Given the description of an element on the screen output the (x, y) to click on. 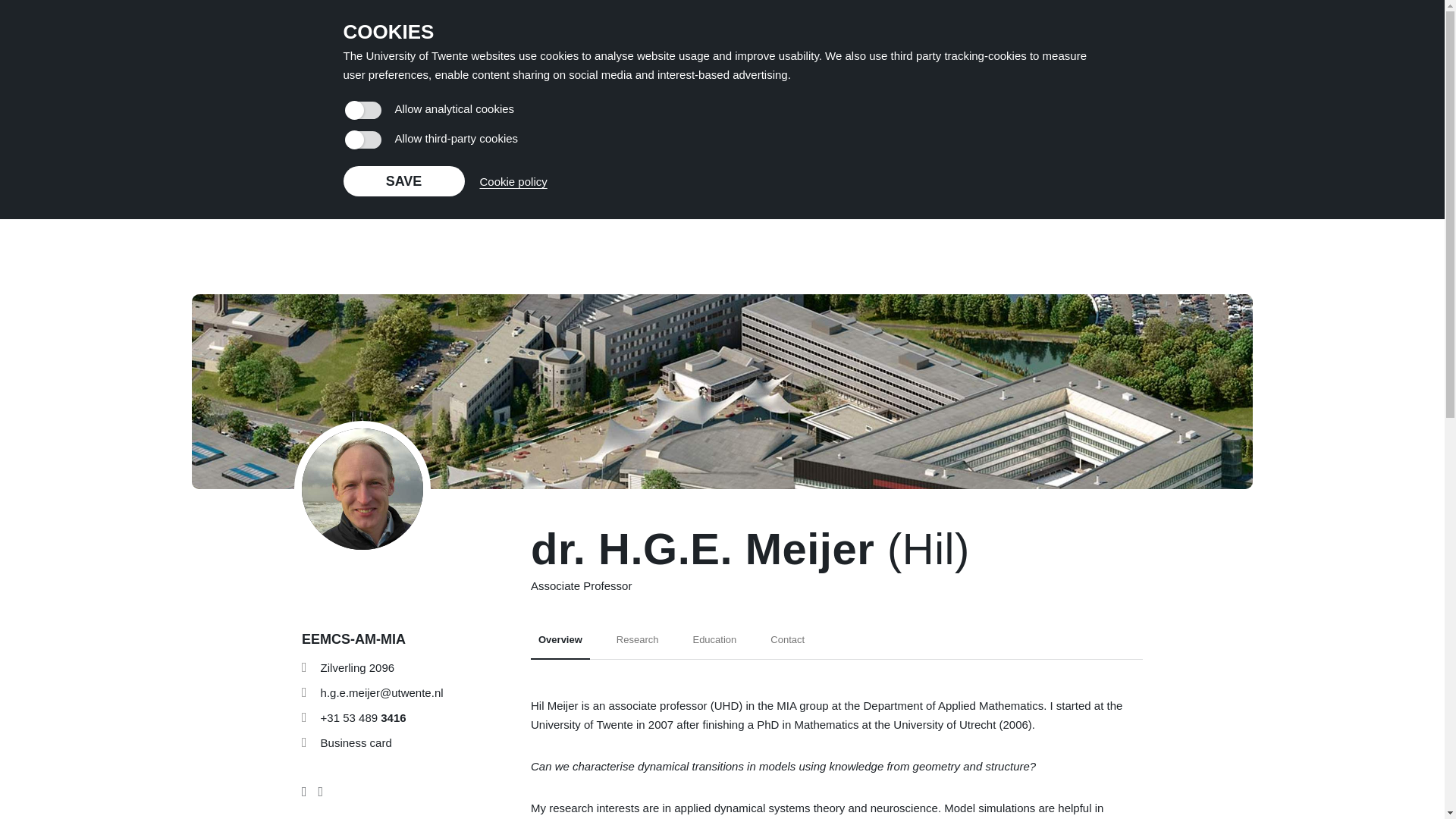
EN (1229, 39)
Overview (560, 644)
SAVE (403, 181)
on (363, 139)
Research (637, 644)
on (363, 109)
Education (714, 644)
Contact (787, 644)
Business card (355, 742)
Cookie policy (337, 39)
